Given the description of an element on the screen output the (x, y) to click on. 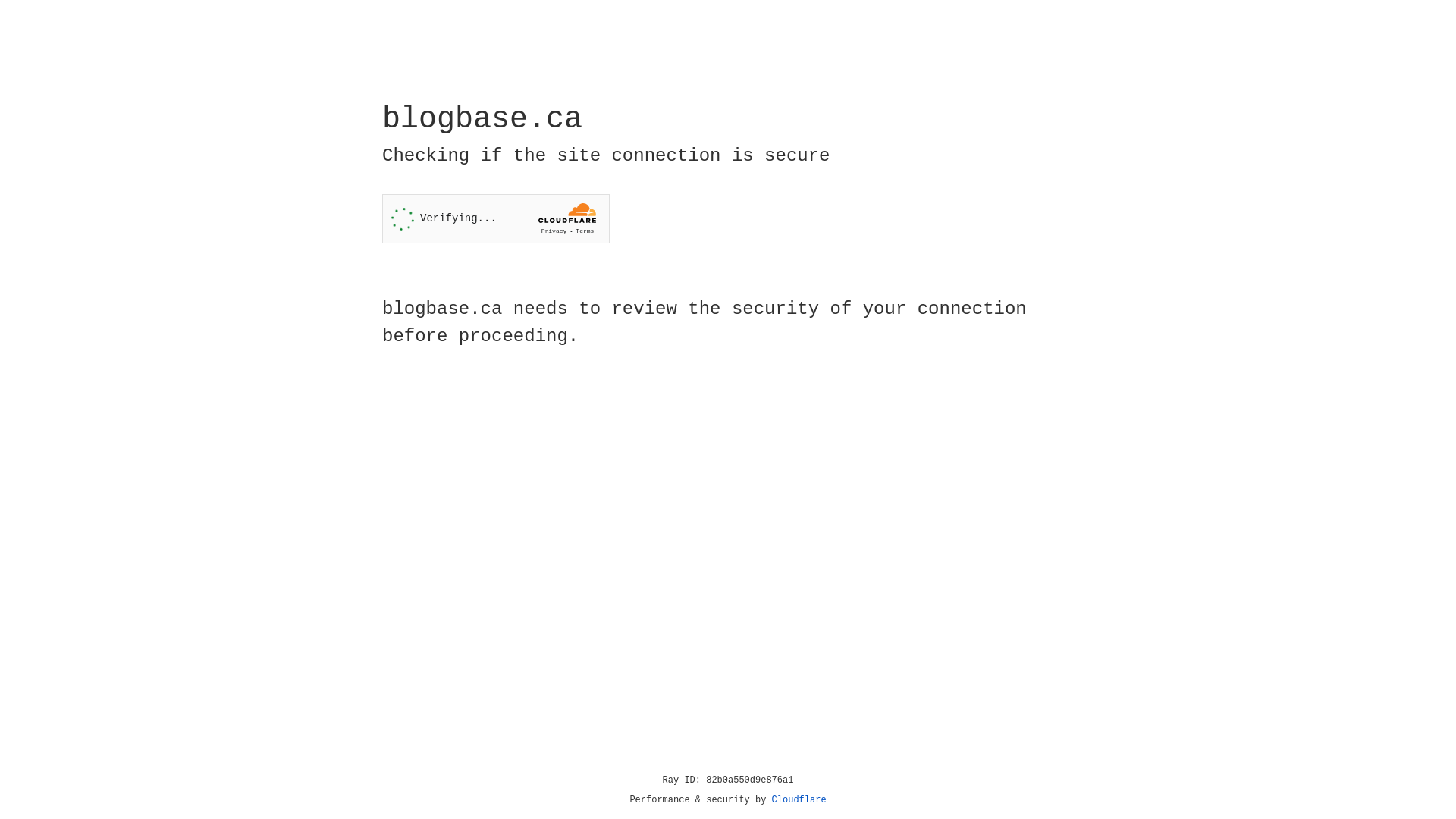
Widget containing a Cloudflare security challenge Element type: hover (495, 218)
Cloudflare Element type: text (798, 799)
